Given the description of an element on the screen output the (x, y) to click on. 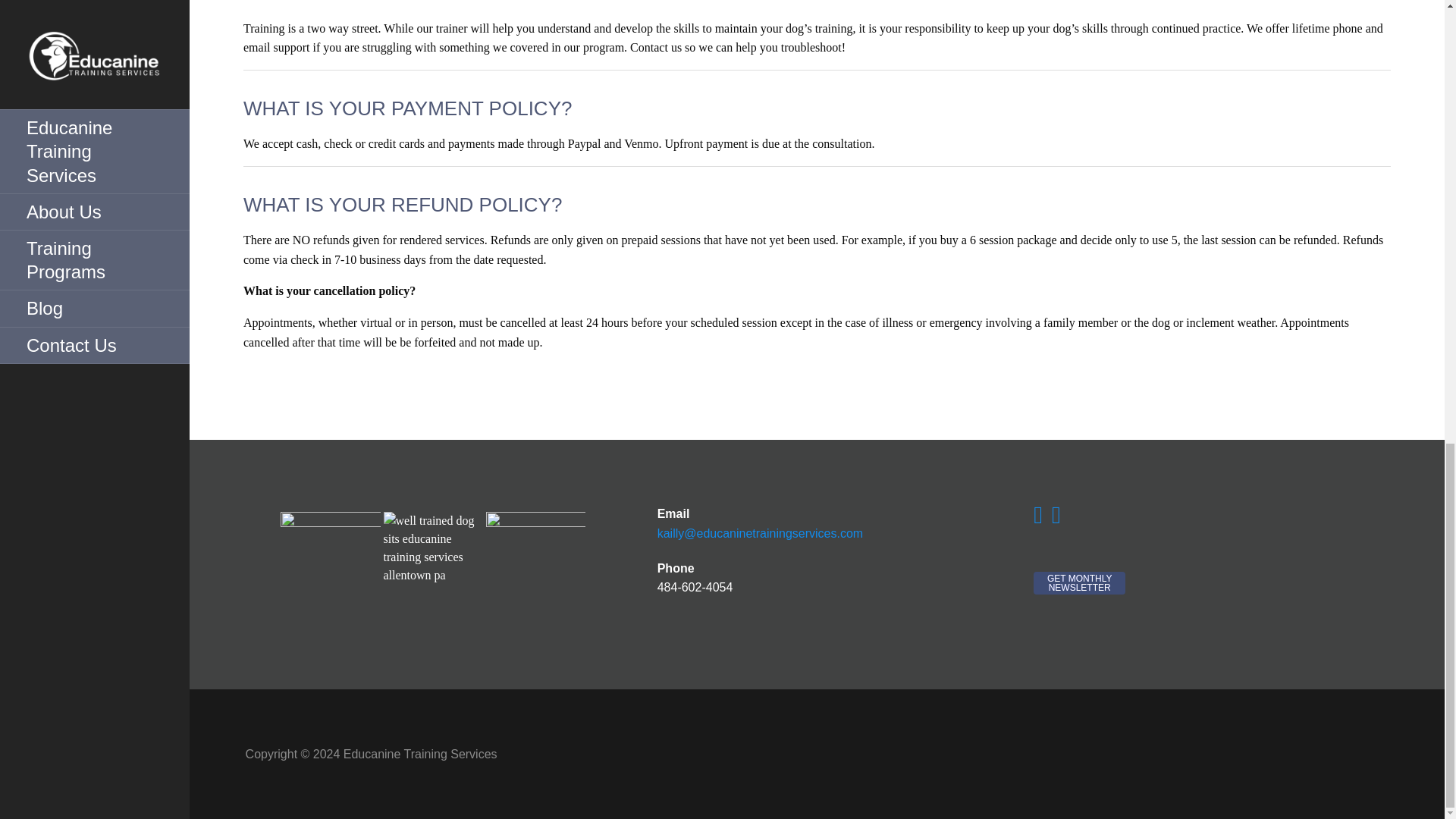
GET MONTHLY NEWSLETTER (1079, 582)
